Given the description of an element on the screen output the (x, y) to click on. 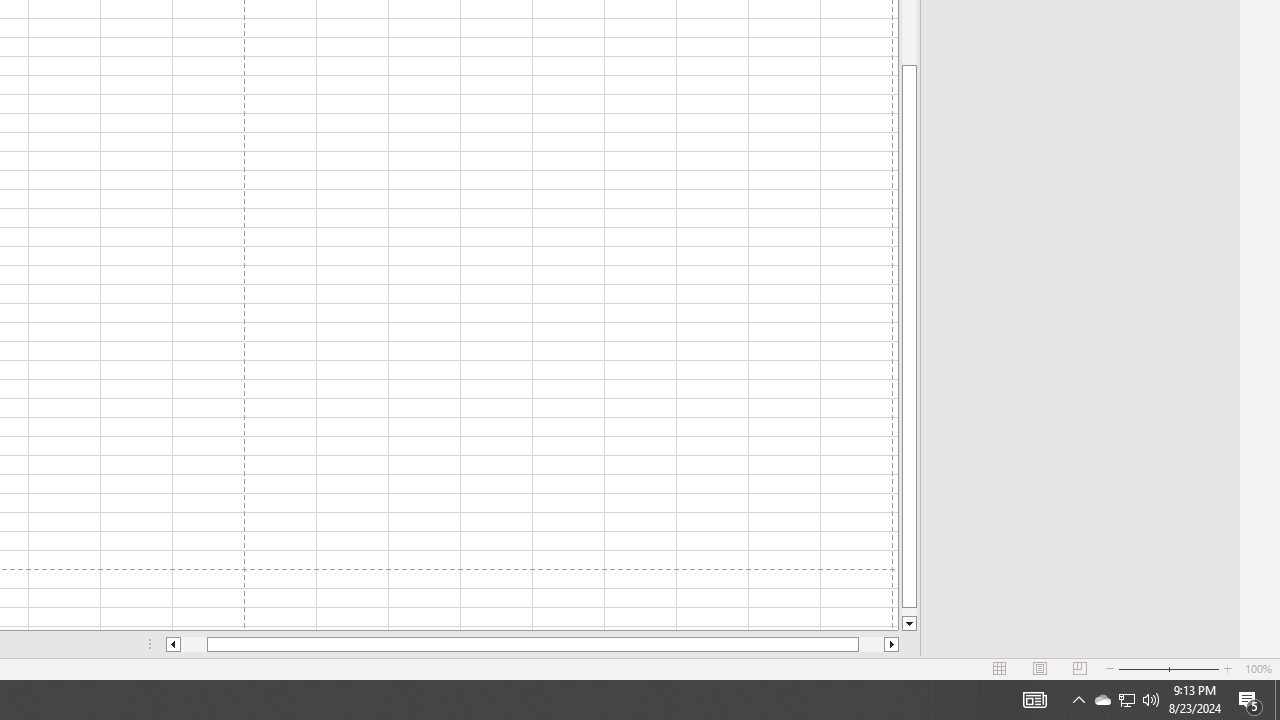
Zoom Out (1142, 668)
Column left (171, 644)
Line down (909, 624)
Page down (909, 611)
Normal (1000, 668)
Page right (871, 644)
Column right (892, 644)
Zoom In (1227, 668)
Page Break Preview (1079, 668)
Class: NetUIScrollBar (532, 644)
Page left (193, 644)
Page Layout (1039, 668)
Zoom (1168, 668)
